Given the description of an element on the screen output the (x, y) to click on. 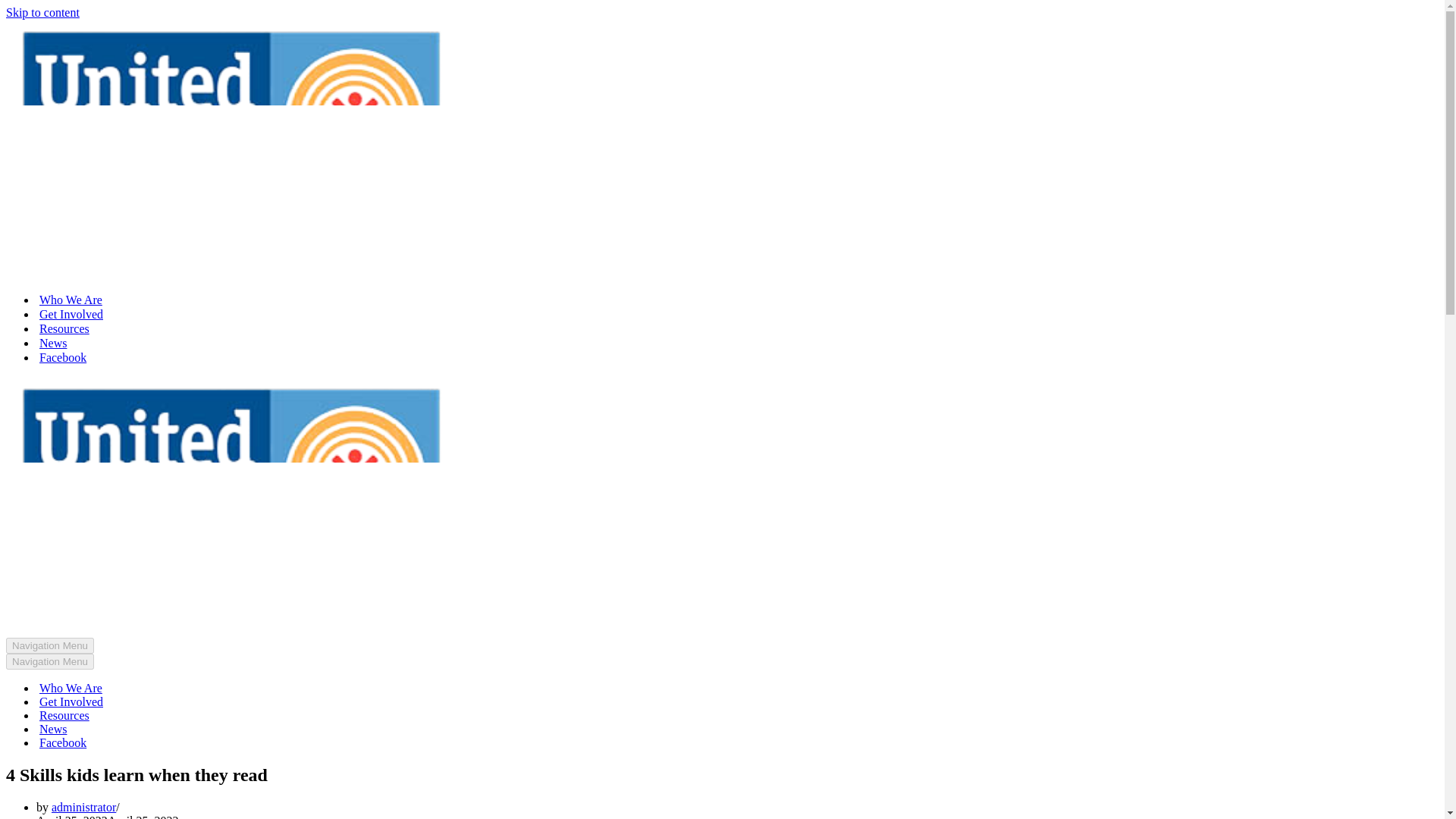
Posts by administrator (83, 807)
Resources (63, 328)
administrator (83, 807)
Resources (63, 715)
Who We Are (70, 299)
Navigation Menu (49, 645)
Facebook (62, 357)
Facebook (62, 743)
News (52, 342)
Navigation Menu (49, 661)
